Given the description of an element on the screen output the (x, y) to click on. 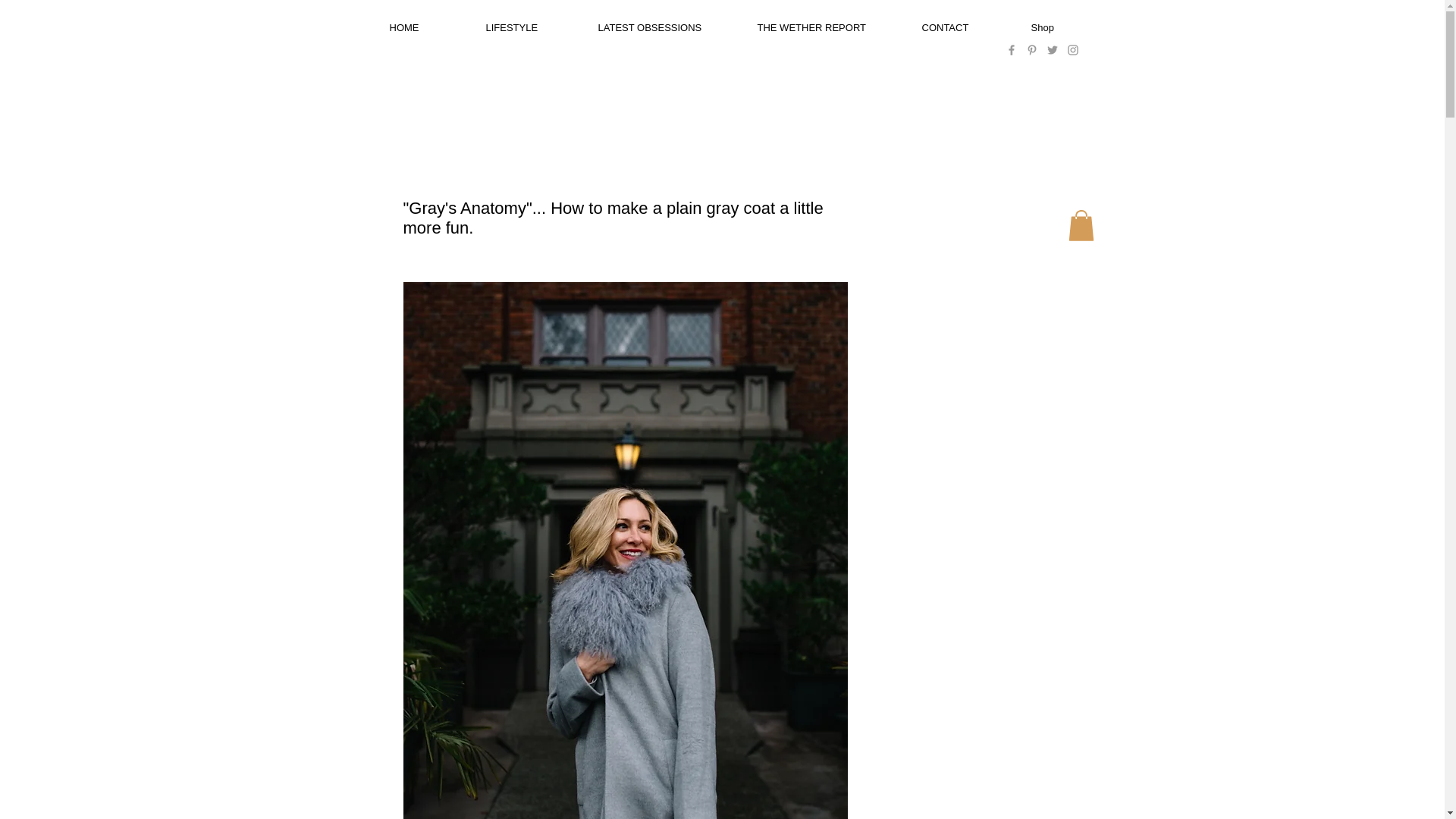
Shop (1064, 27)
LIFESTYLE (530, 27)
THE WETHER REPORT (828, 27)
HOME (427, 27)
CONTACT (965, 27)
LATEST OBSESSIONS (665, 27)
